Given the description of an element on the screen output the (x, y) to click on. 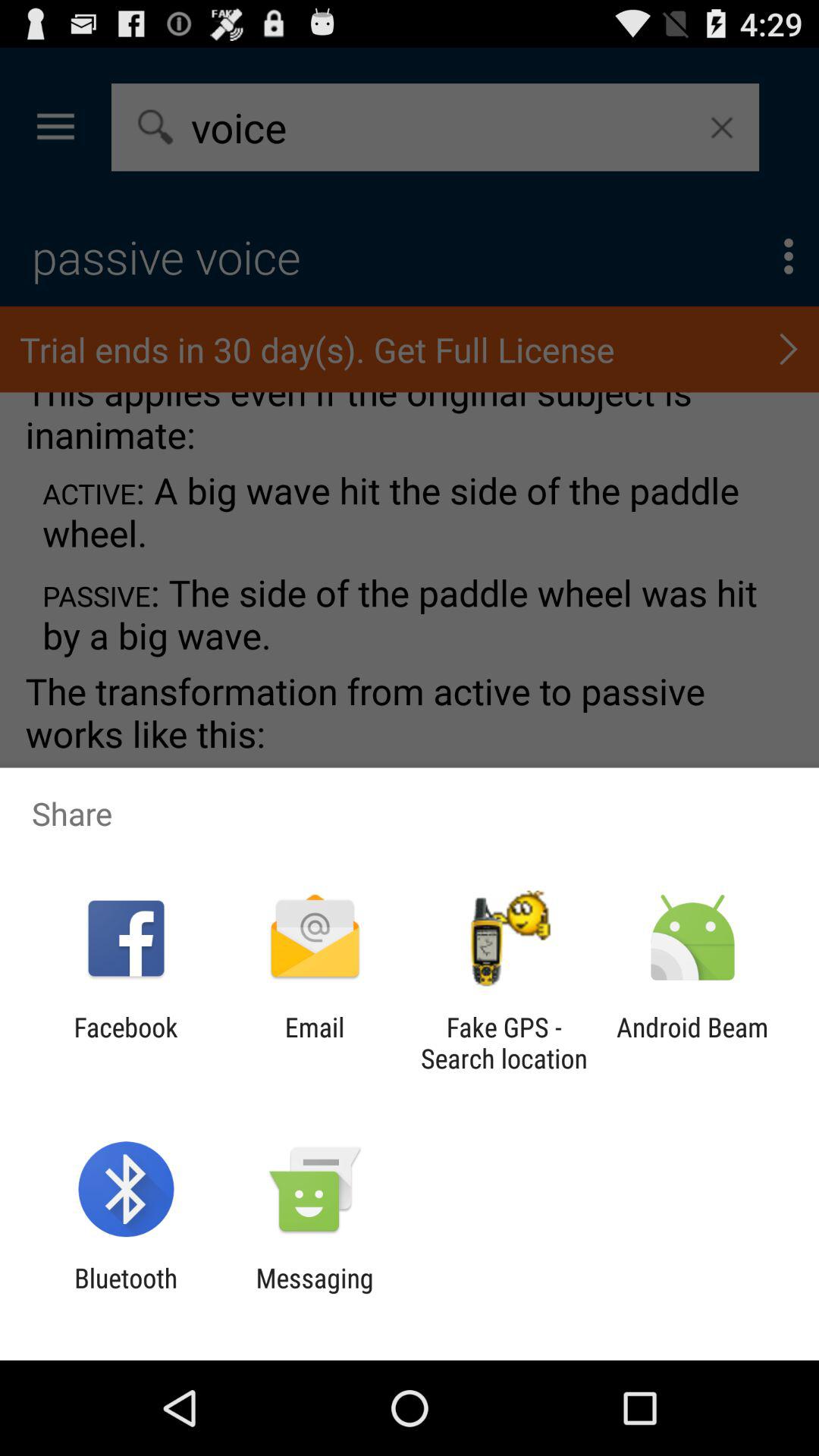
open app to the left of android beam (503, 1042)
